Given the description of an element on the screen output the (x, y) to click on. 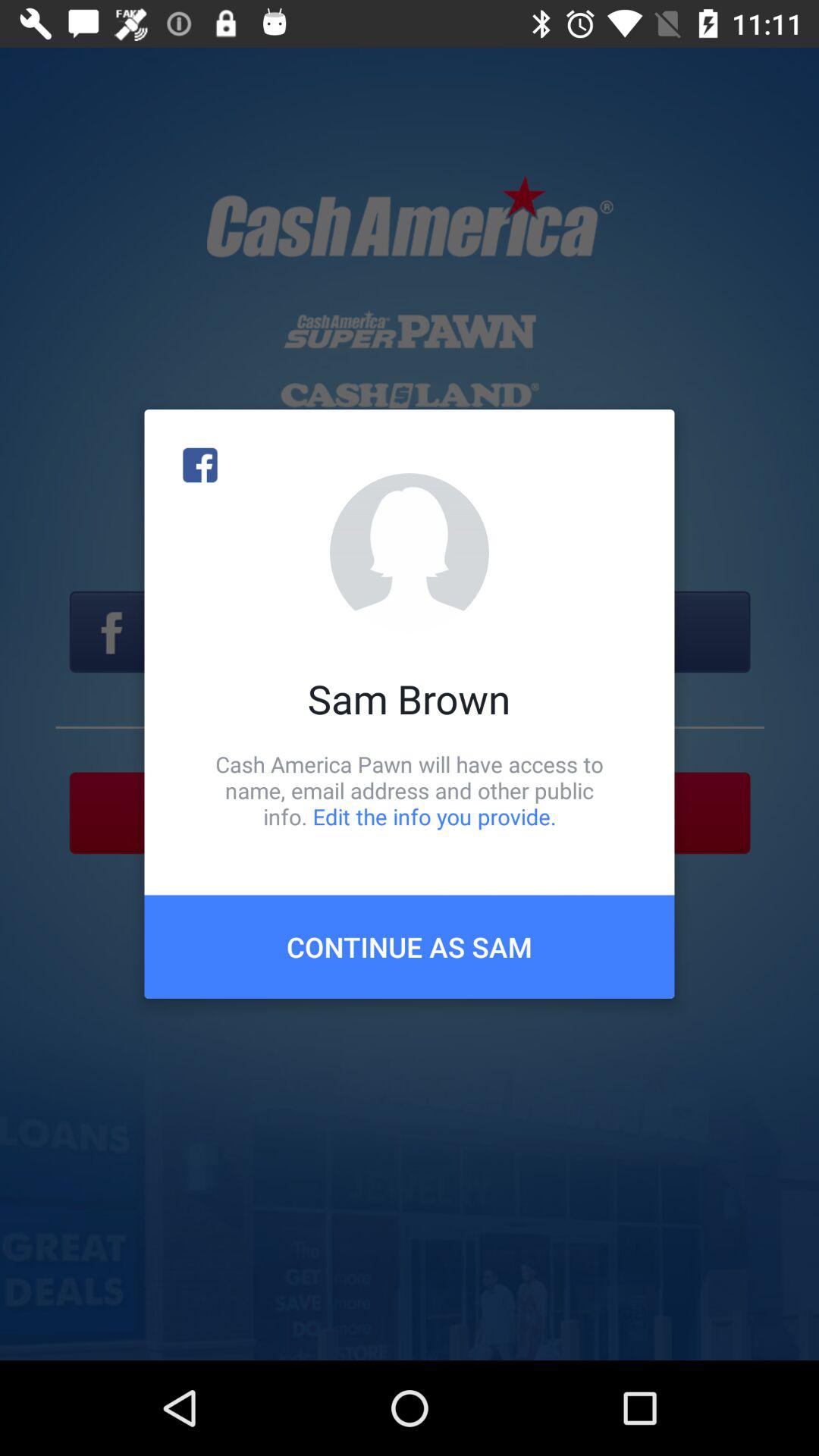
turn on the icon below cash america pawn item (409, 946)
